Given the description of an element on the screen output the (x, y) to click on. 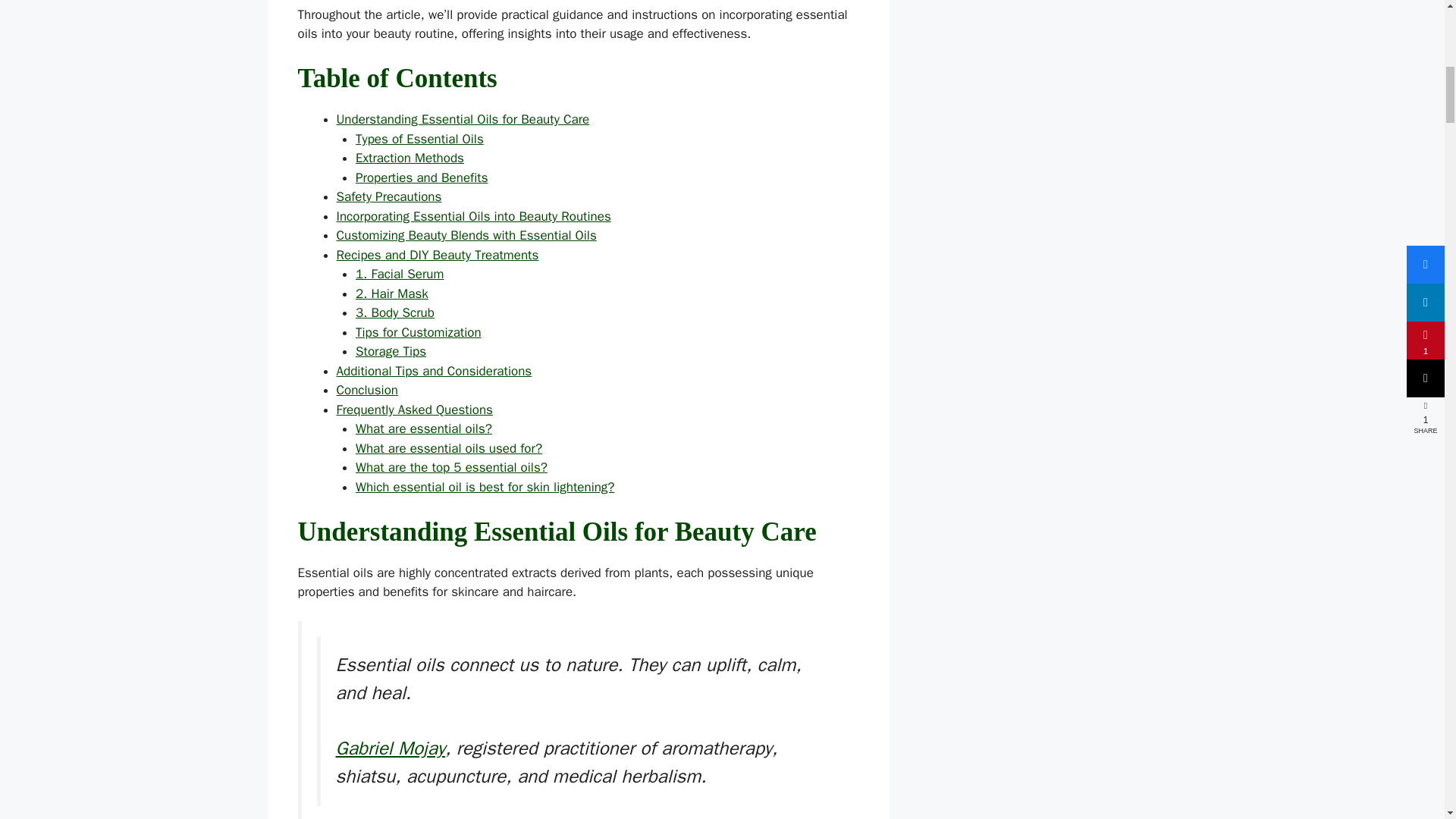
Safety Precautions (389, 196)
Types of Essential Oils (419, 139)
Frequently Asked Questions (414, 409)
What are essential oils? (423, 428)
3. Body Scrub (394, 312)
Conclusion (366, 390)
2. Hair Mask (391, 293)
What are essential oils used for? (448, 448)
Storage Tips (390, 351)
Additional Tips and Considerations (434, 371)
